Given the description of an element on the screen output the (x, y) to click on. 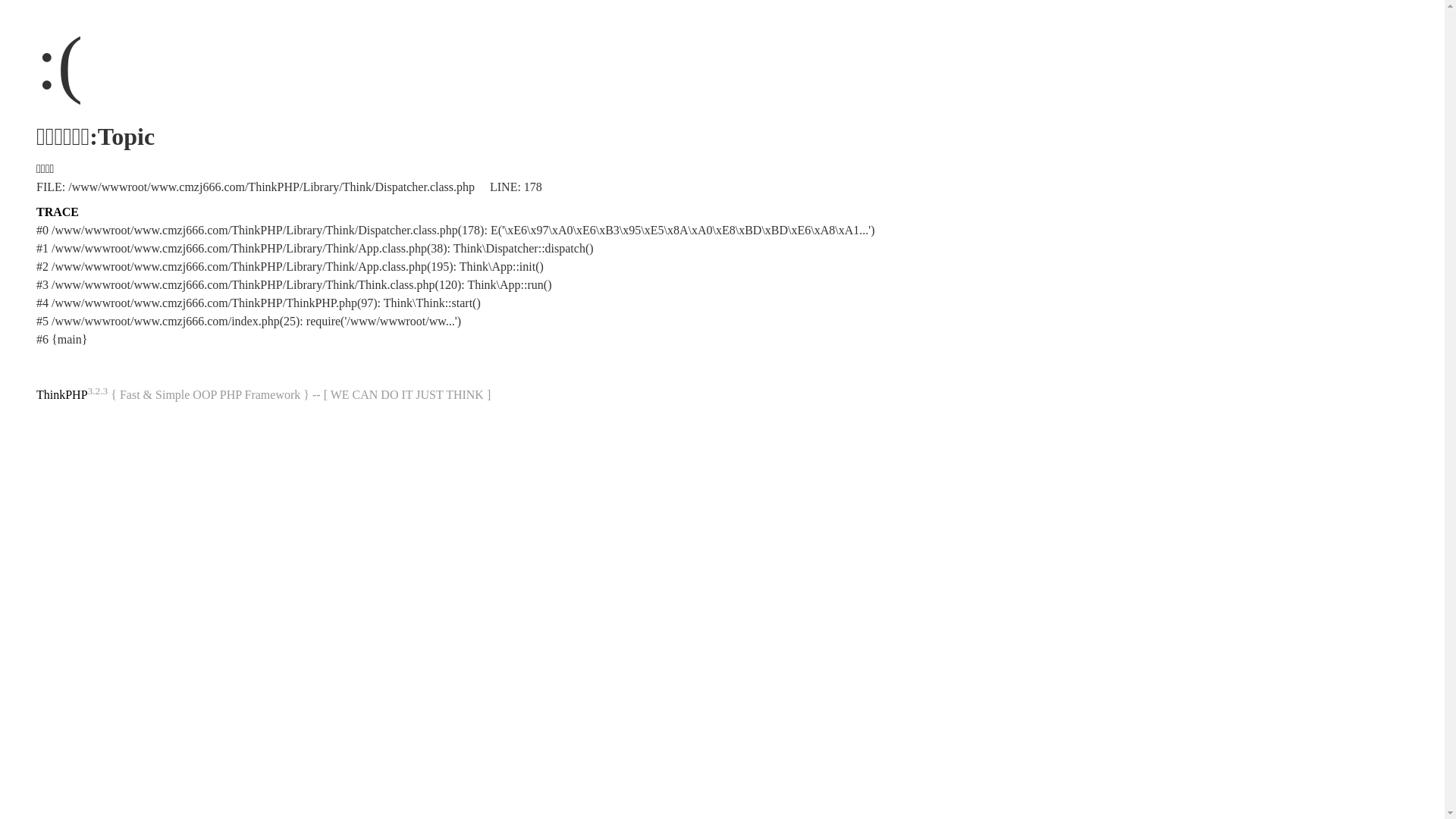
ThinkPHP Element type: text (61, 394)
